Given the description of an element on the screen output the (x, y) to click on. 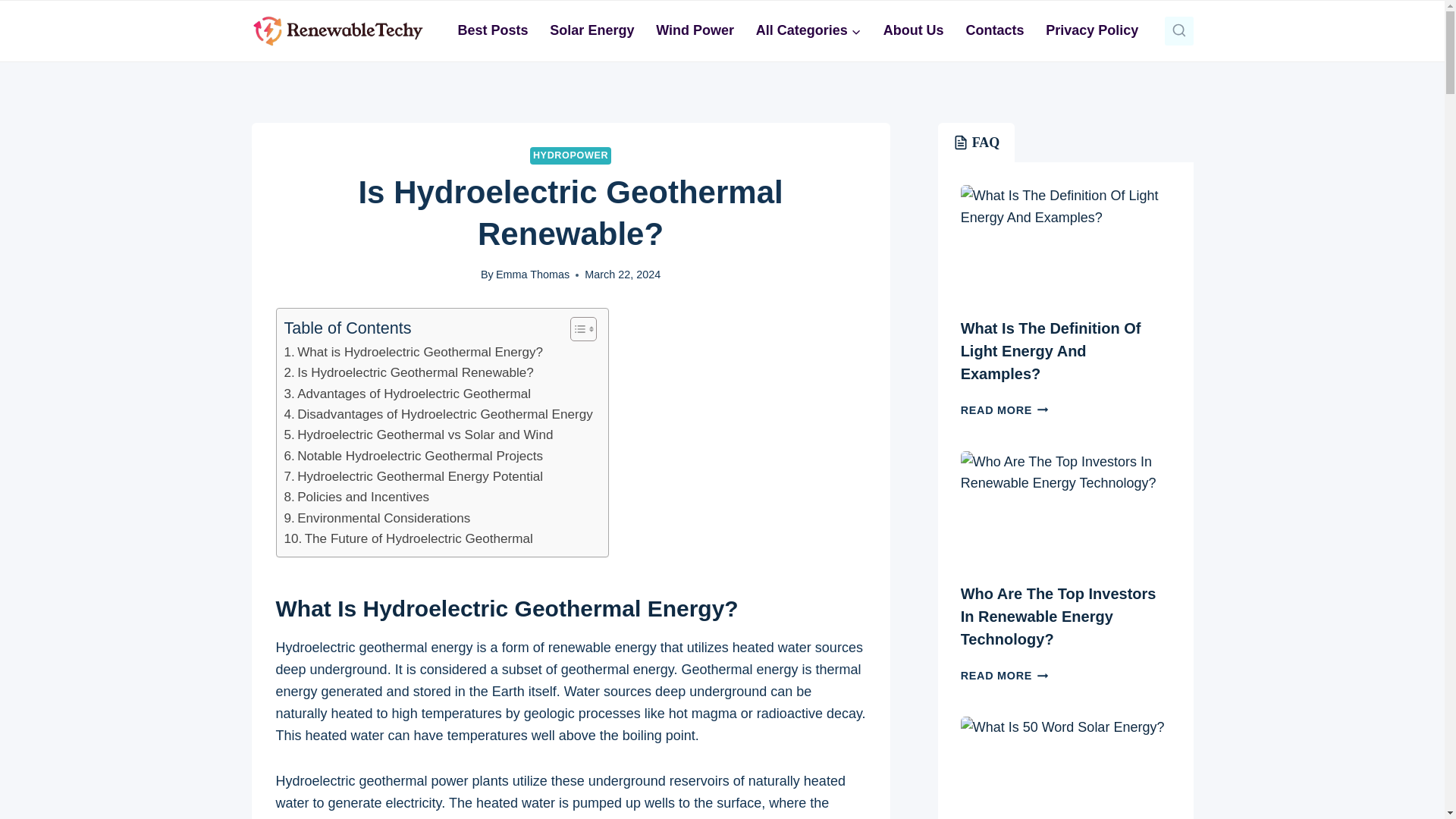
Emma Thomas (532, 274)
Contacts (995, 30)
Privacy Policy (1092, 30)
Solar Energy (591, 30)
Policies and Incentives (356, 496)
What is Hydroelectric Geothermal Energy? (413, 352)
Hydroelectric Geothermal vs Solar and Wind (418, 435)
Environmental Considerations (376, 517)
Advantages of Hydroelectric Geothermal (407, 394)
Is Hydroelectric Geothermal Renewable? (407, 372)
Policies and Incentives (356, 496)
Notable Hydroelectric Geothermal Projects (413, 455)
About Us (913, 30)
Environmental Considerations (376, 517)
Disadvantages of Hydroelectric Geothermal Energy  (437, 414)
